Given the description of an element on the screen output the (x, y) to click on. 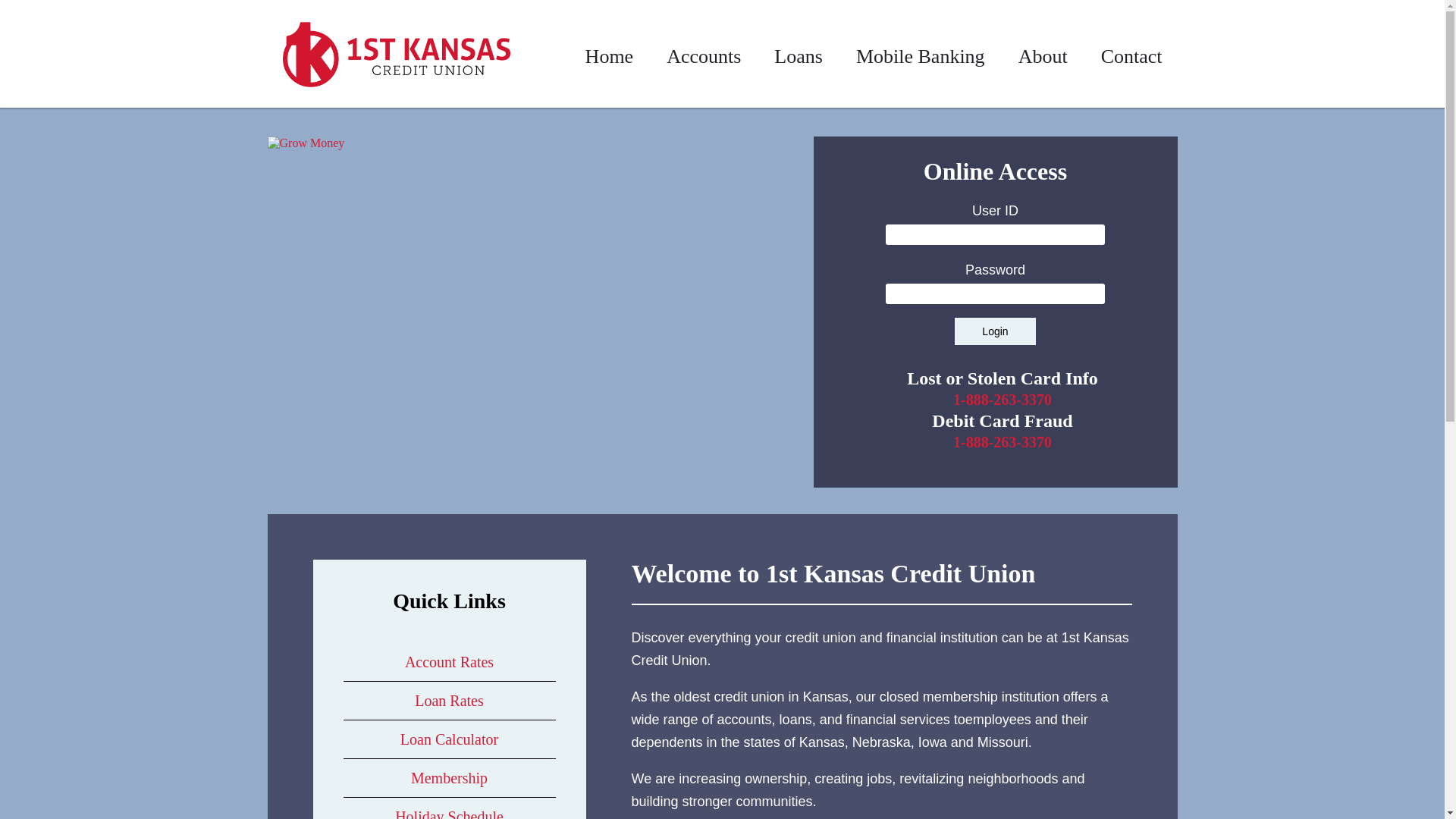
1-888-263-3370 Element type: text (1002, 399)
Membership Element type: text (449, 777)
Mobile Banking Element type: text (920, 56)
Accounts Element type: text (703, 56)
Account Rates Element type: text (448, 661)
Home Element type: text (609, 56)
Loans Element type: text (798, 56)
Login Element type: text (994, 331)
Contact Element type: text (1131, 56)
Loan Rates Element type: text (448, 700)
About Element type: text (1042, 56)
Loan Calculator Element type: text (449, 739)
1-888-263-3370 Element type: text (1002, 441)
